Given the description of an element on the screen output the (x, y) to click on. 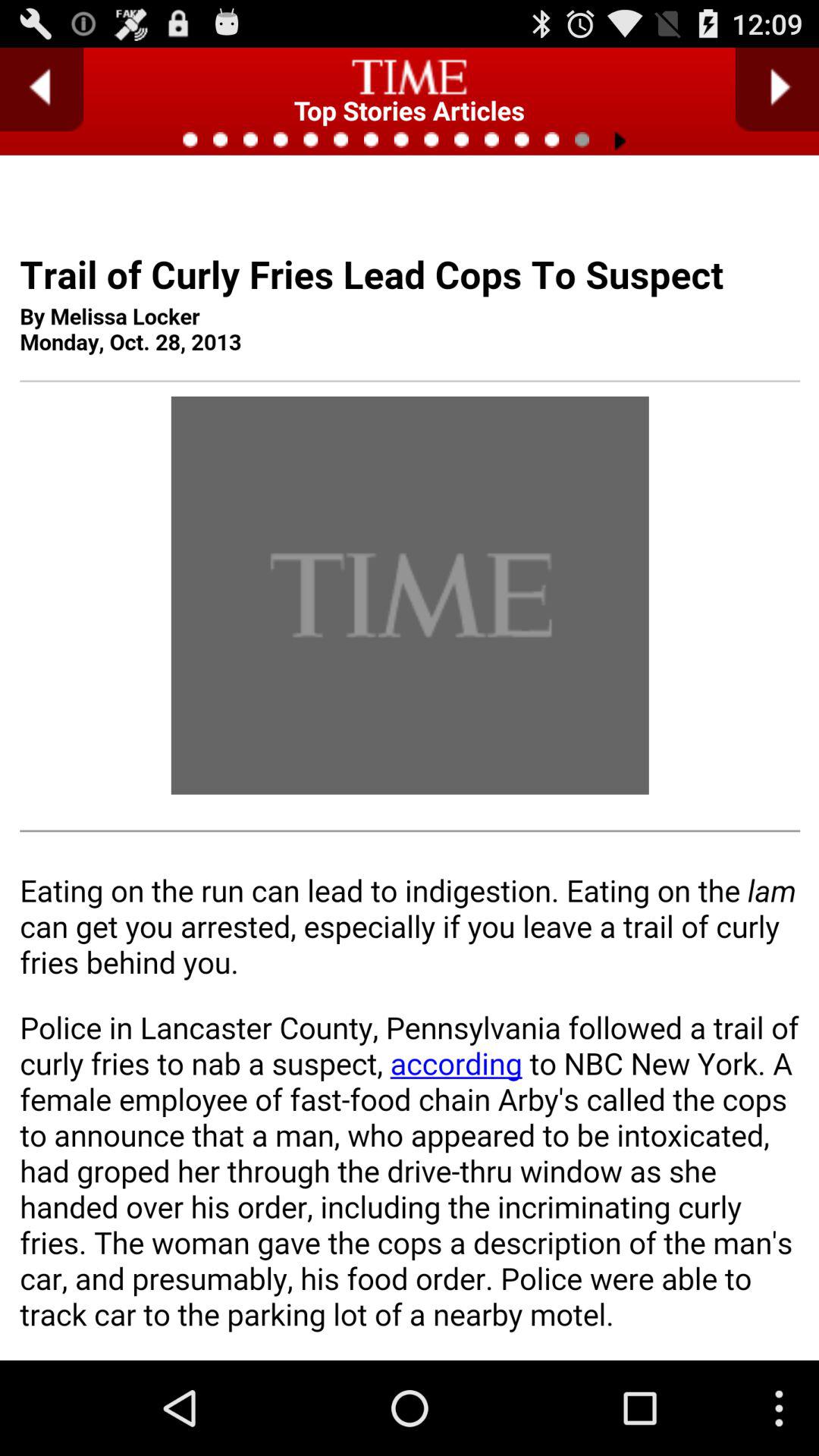
go to next page (777, 89)
